Given the description of an element on the screen output the (x, y) to click on. 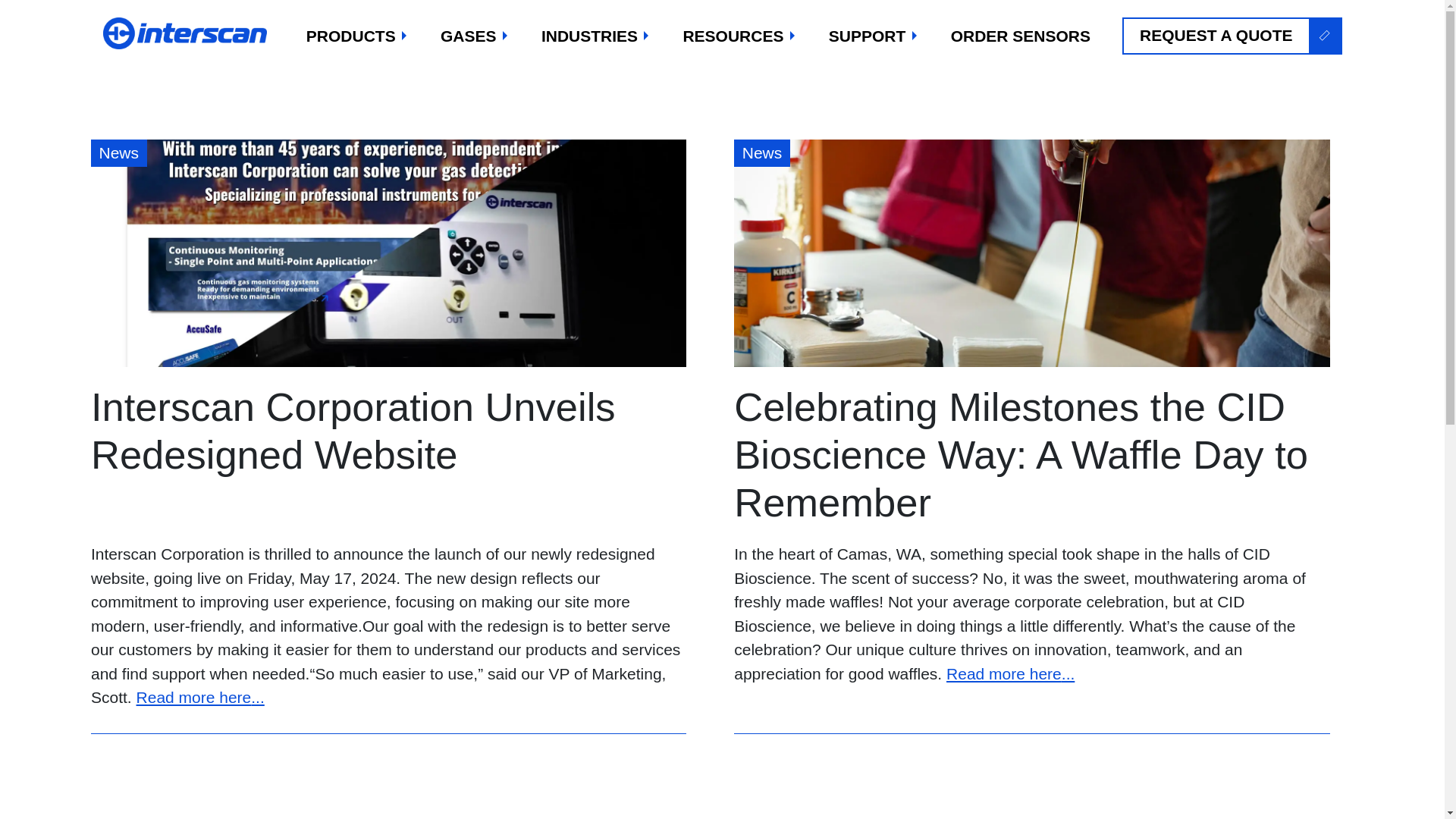
PRODUCTS (357, 35)
Gases (475, 35)
GASES (475, 35)
Products (357, 35)
Interscan Corporation (186, 33)
INDUSTRIES (595, 35)
